Given the description of an element on the screen output the (x, y) to click on. 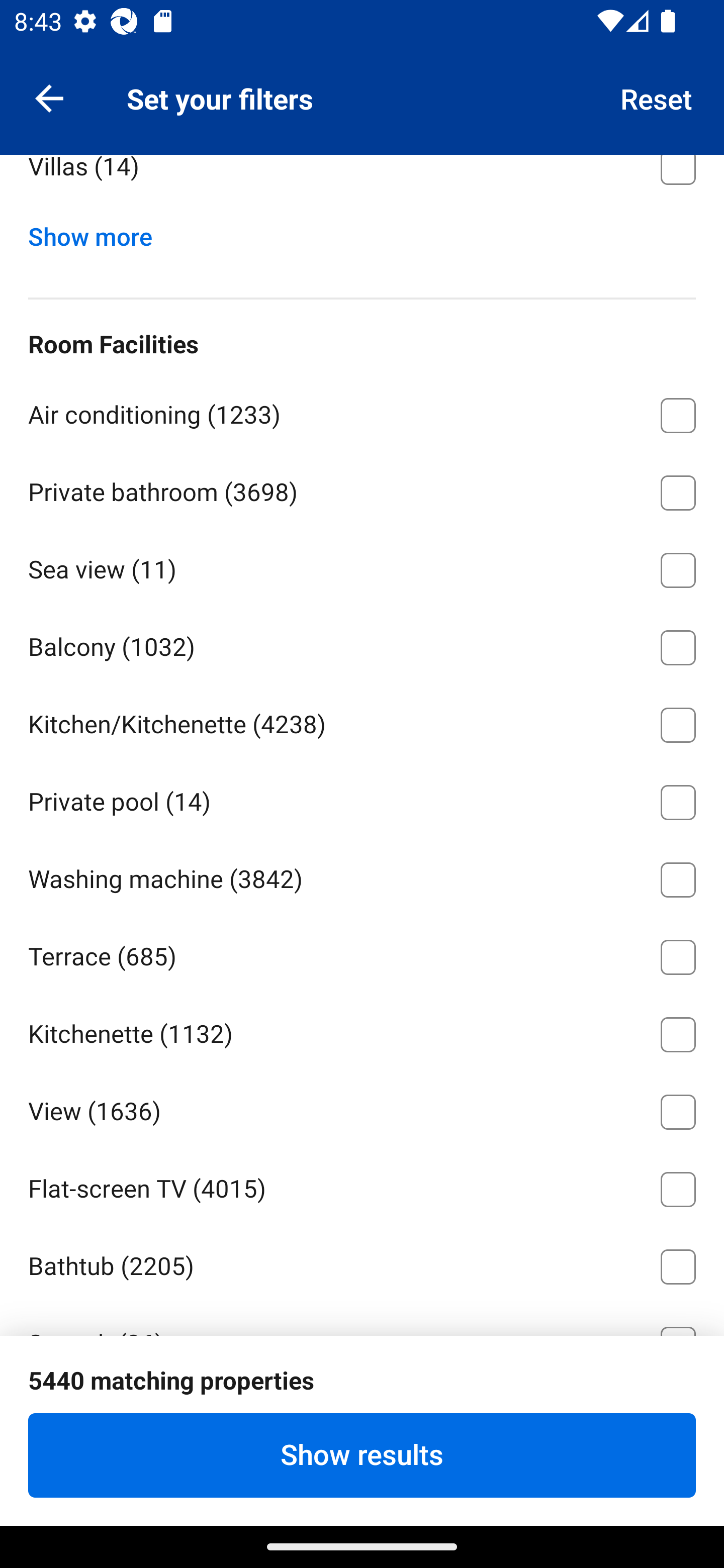
Hotels ⁦(961) (361, 86)
Navigate up (49, 97)
Reset (656, 97)
Villas ⁦(14) (361, 182)
Show more (97, 232)
Air conditioning ⁦(1233) (361, 412)
Private bathroom ⁦(3698) (361, 489)
Sea view ⁦(11) (361, 566)
Balcony ⁦(1032) (361, 644)
Kitchen/Kitchenette ⁦(4238) (361, 721)
Private pool ⁦(14) (361, 798)
Washing machine ⁦(3842) (361, 876)
Terrace ⁦(685) (361, 953)
Kitchenette ⁦(1132) (361, 1030)
View ⁦(1636) (361, 1108)
Flat-screen TV ⁦(4015) (361, 1185)
Bathtub ⁦(2205) (361, 1262)
Show results (361, 1454)
